Given the description of an element on the screen output the (x, y) to click on. 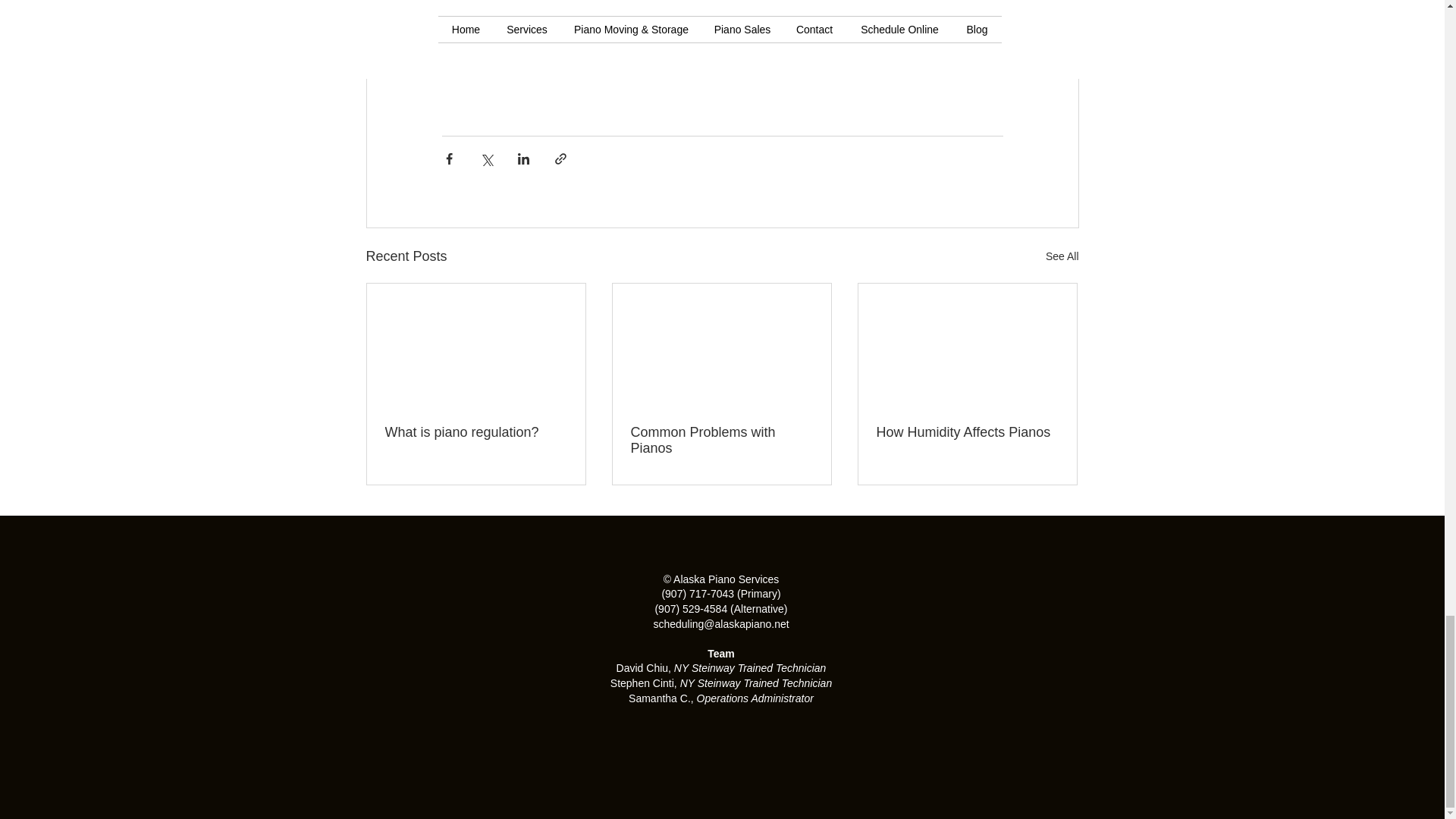
See All (1061, 256)
Common Problems with Pianos (721, 440)
How Humidity Affects Pianos (967, 432)
What is piano regulation? (476, 432)
